Given the description of an element on the screen output the (x, y) to click on. 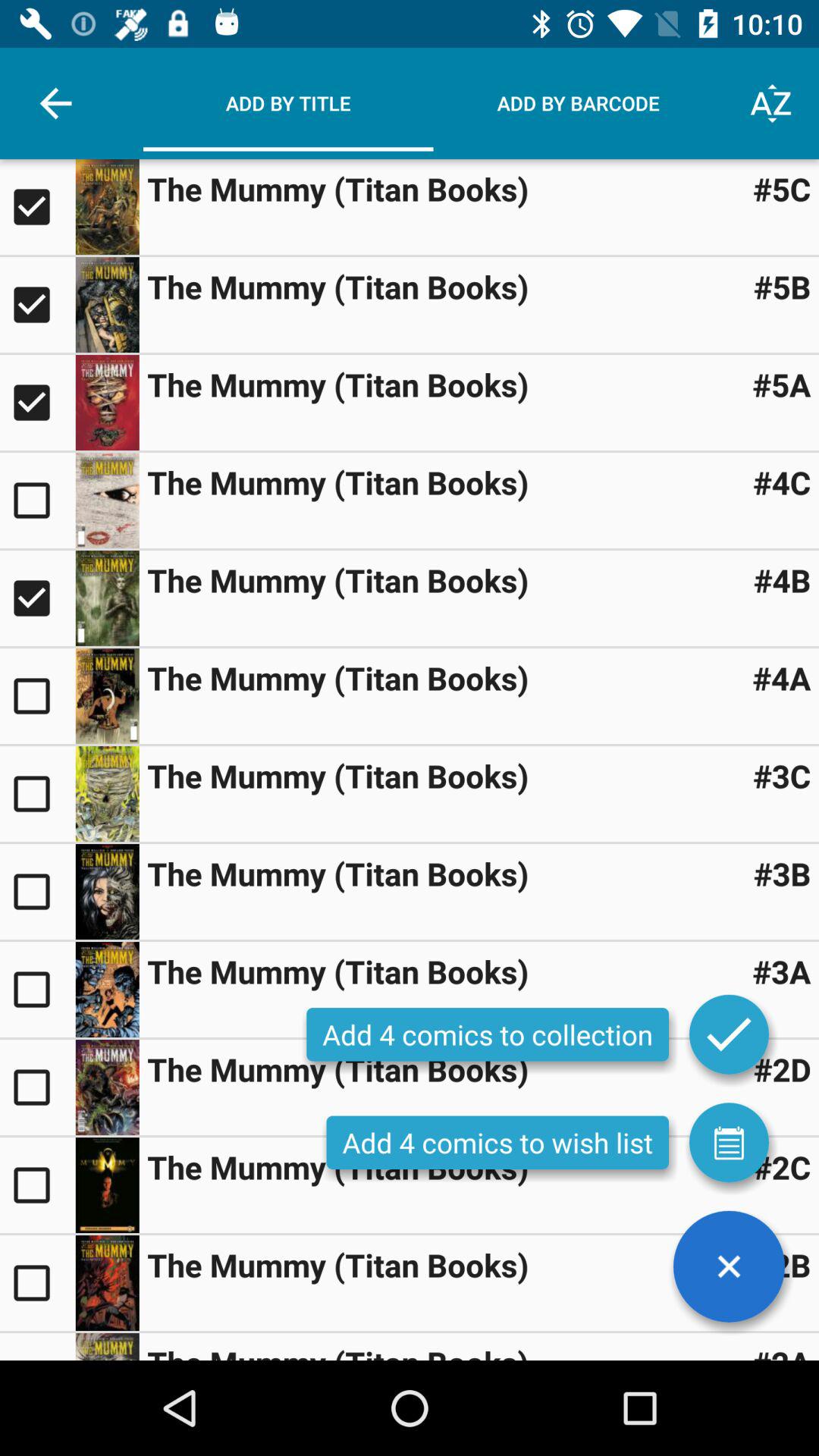
toggle selection for that comic (37, 304)
